Given the description of an element on the screen output the (x, y) to click on. 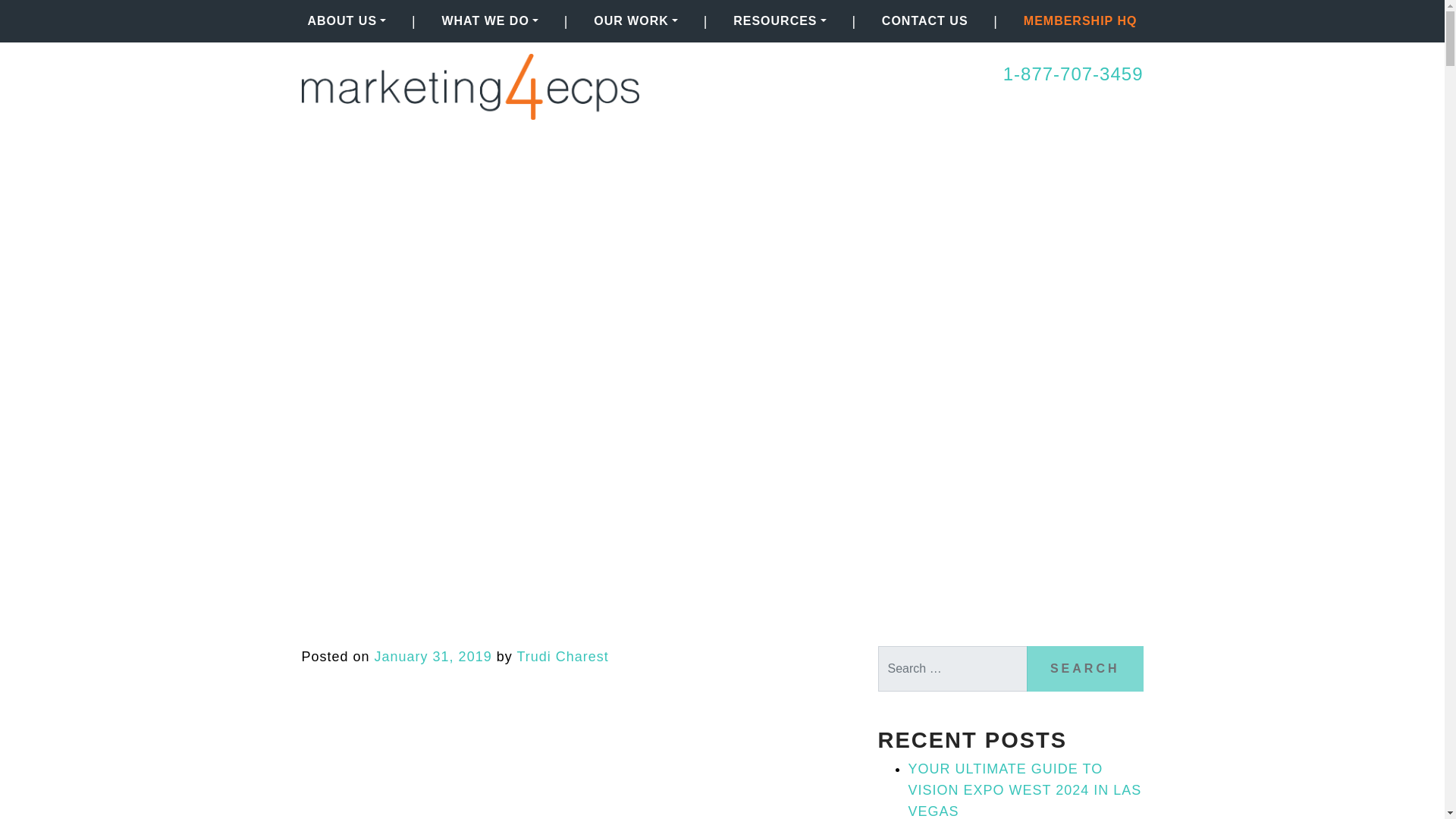
WHAT WE DO (489, 20)
What We Do (489, 20)
Trudi Charest (562, 656)
Resources (778, 20)
Our Work (636, 20)
About Us (347, 20)
RESOURCES (778, 20)
OUR WORK (636, 20)
ABOUT US (347, 20)
CONTACT US (925, 20)
1-877-707-3459 (1072, 73)
Search (1084, 668)
MEMBERSHIP HQ (1079, 20)
January 31, 2019 (433, 656)
